Given the description of an element on the screen output the (x, y) to click on. 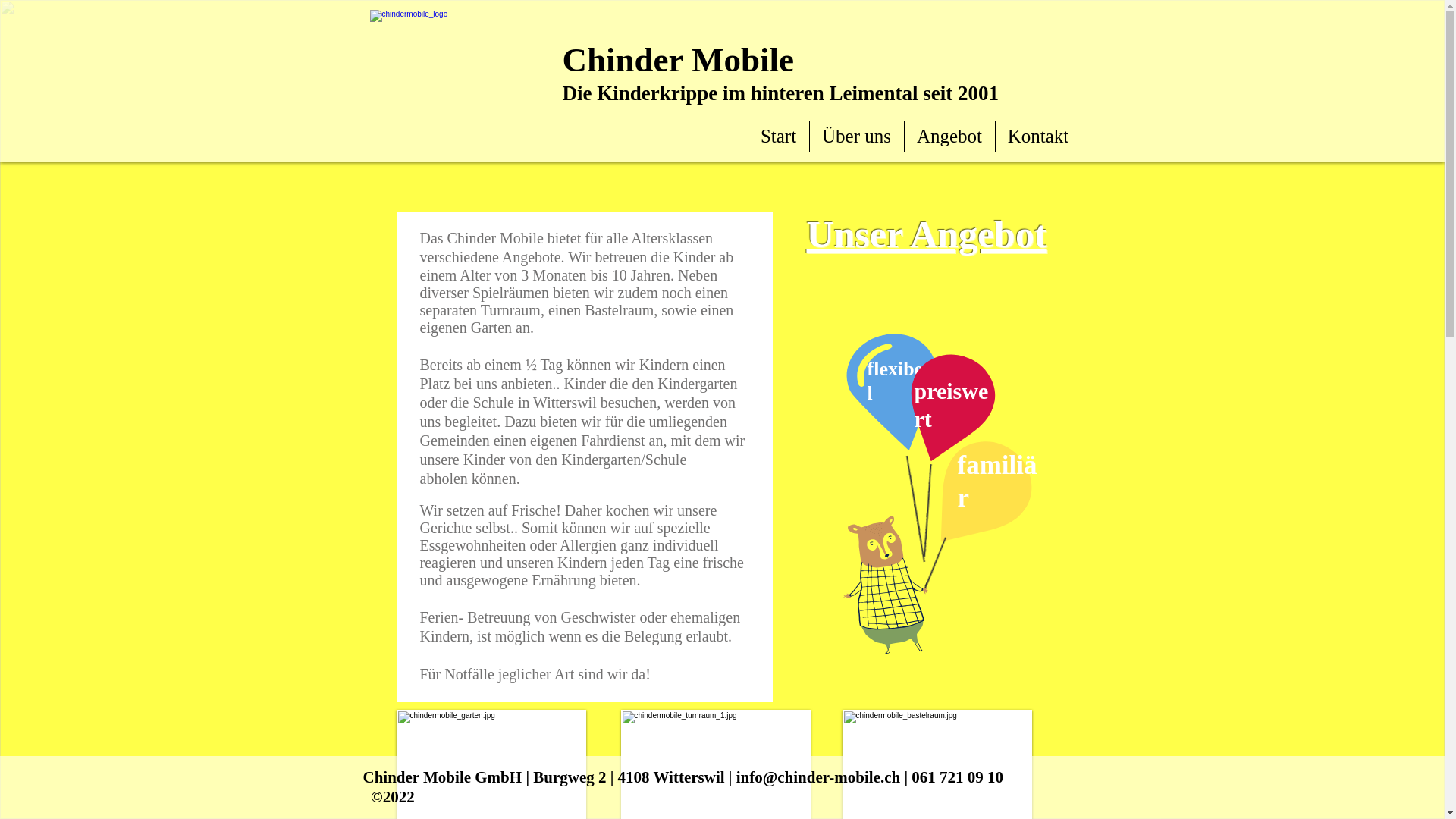
info@chinder-mobile.ch Element type: text (818, 777)
Angebot Element type: text (948, 136)
Kontakt Element type: text (1037, 136)
Start Element type: text (777, 136)
